Given the description of an element on the screen output the (x, y) to click on. 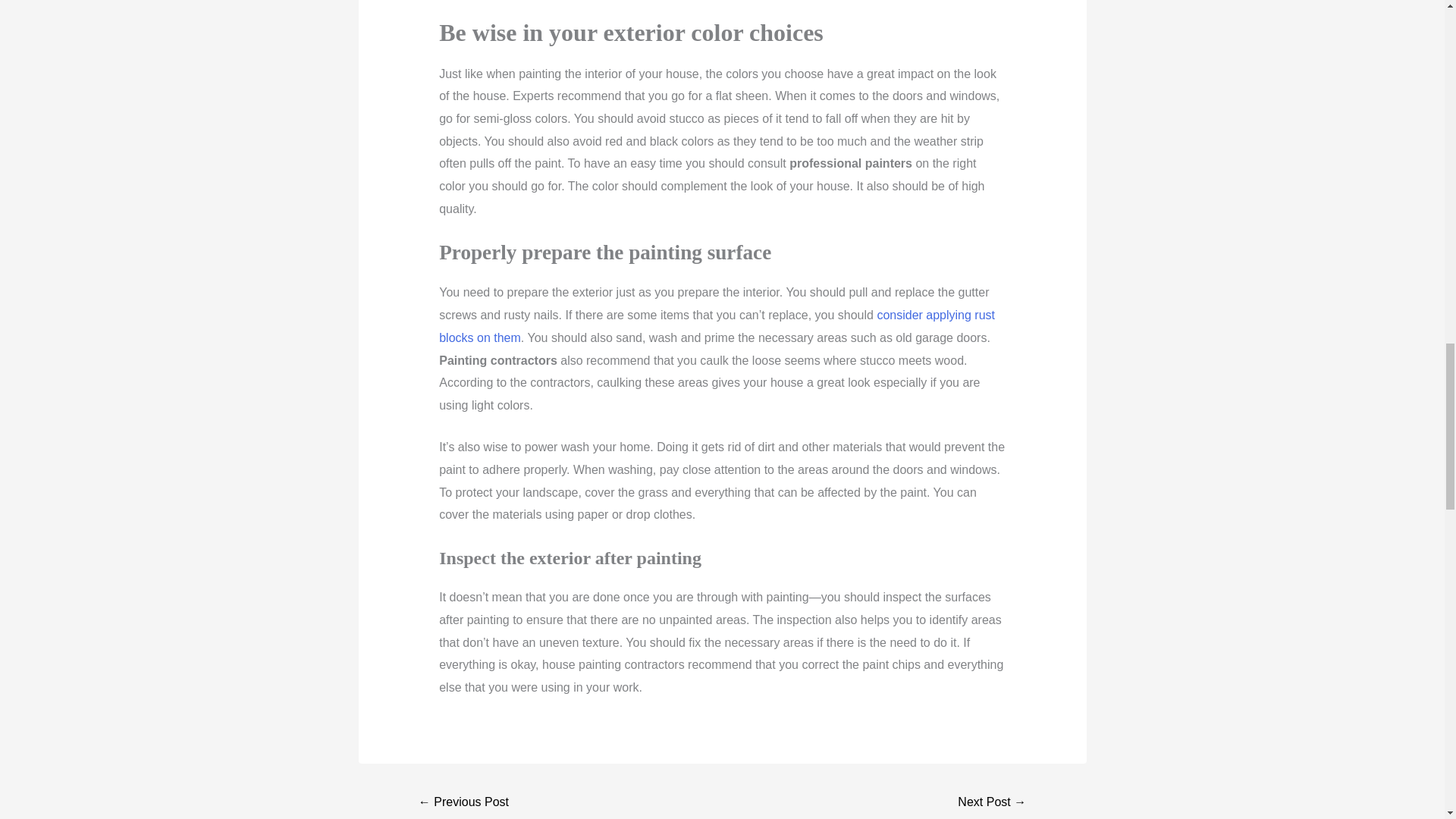
consider applying rust blocks on them (716, 325)
Guide On How To Choose Best Fashionable Sunglasses (991, 803)
The Importance Of Snow Plow During Cold Season (463, 803)
